Given the description of an element on the screen output the (x, y) to click on. 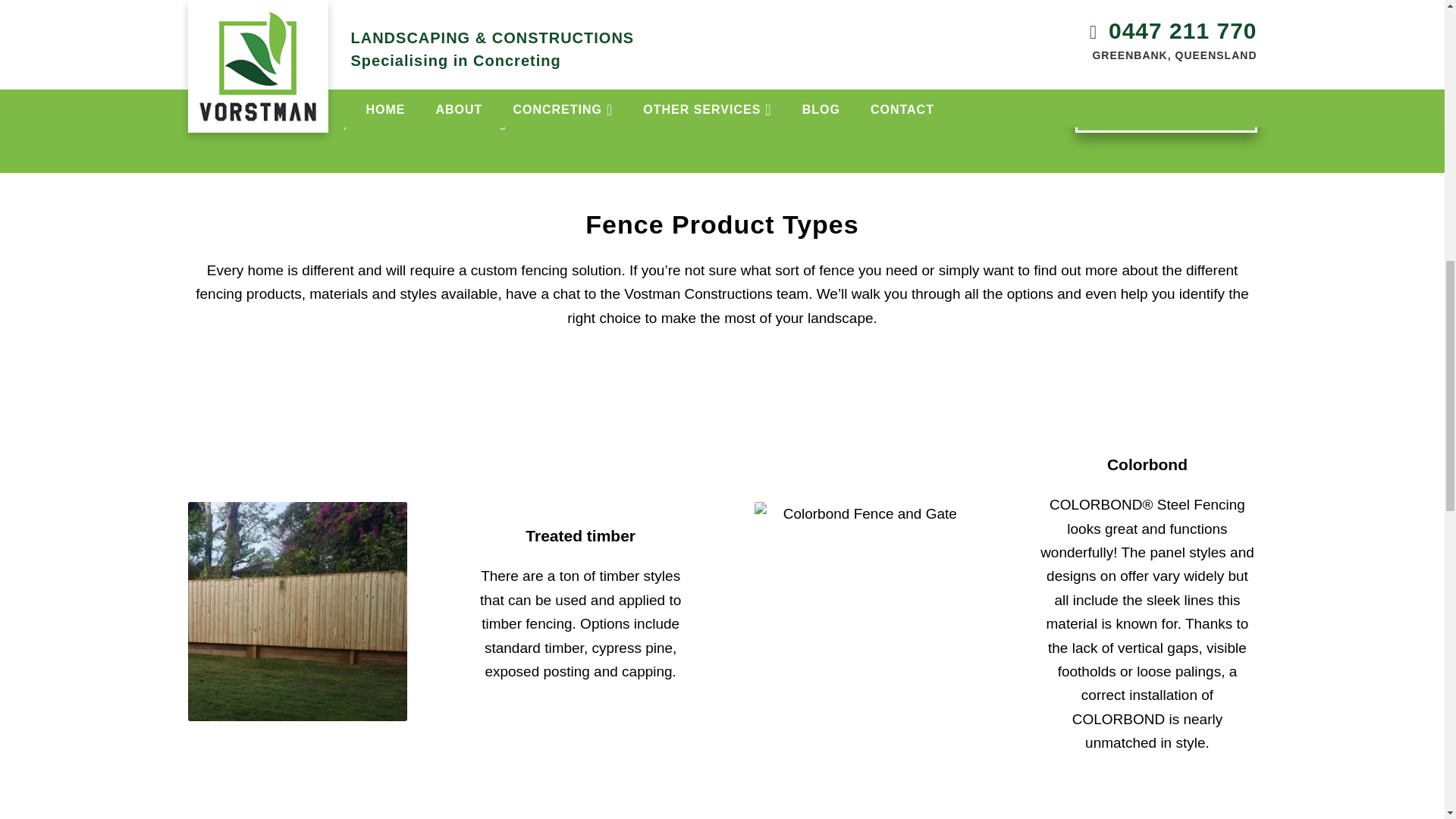
0447 211 770 (276, 123)
Timber Fence (297, 611)
Get a Free Quote (1165, 107)
Colorbond Fence and Gate (864, 611)
